Given the description of an element on the screen output the (x, y) to click on. 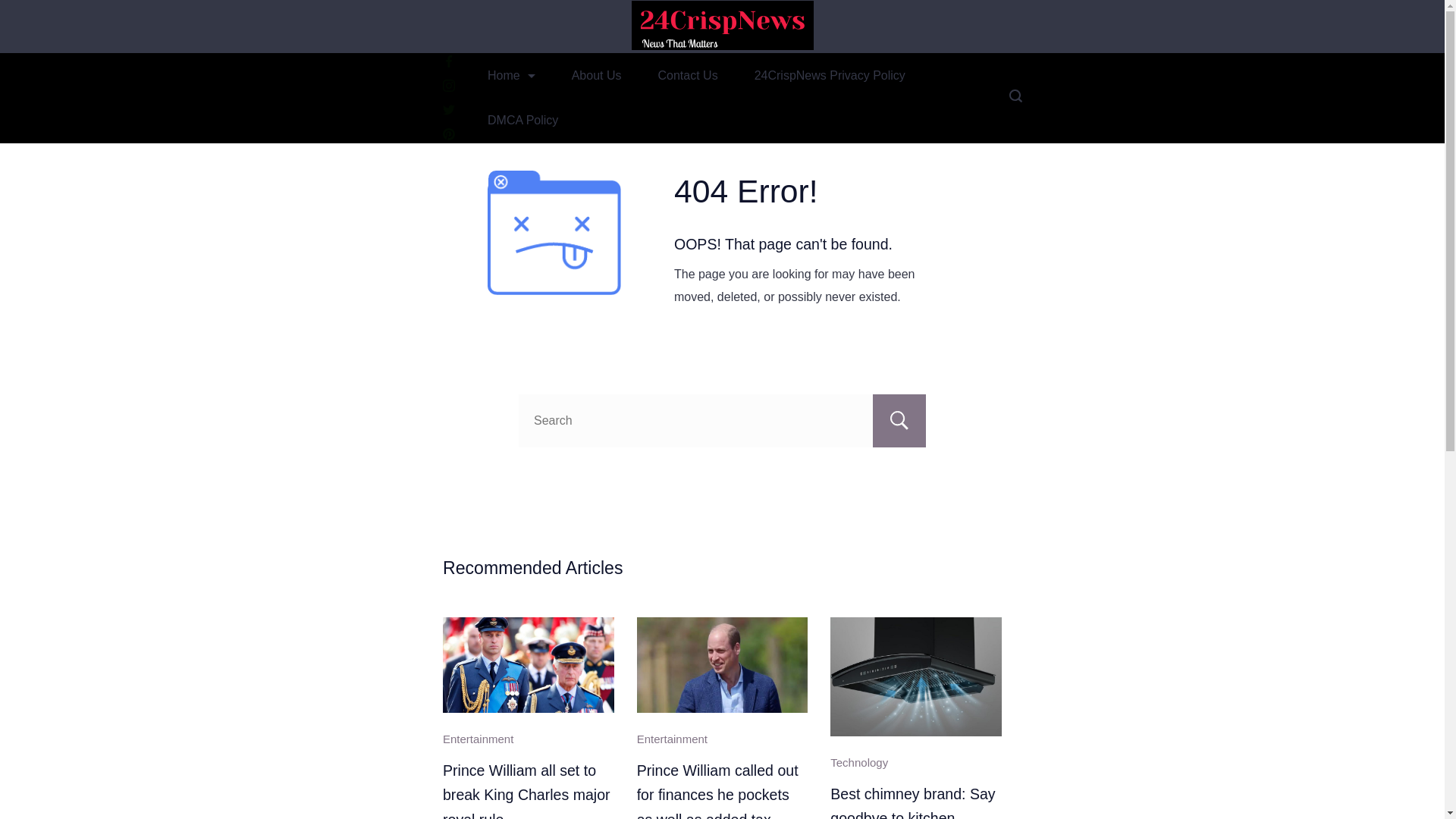
24CrispNews Privacy Policy (829, 75)
Contact Us (688, 75)
DMCA Policy (522, 119)
Search (899, 420)
Search (899, 420)
Home (510, 75)
About Us (596, 75)
Search Input (722, 420)
